Given the description of an element on the screen output the (x, y) to click on. 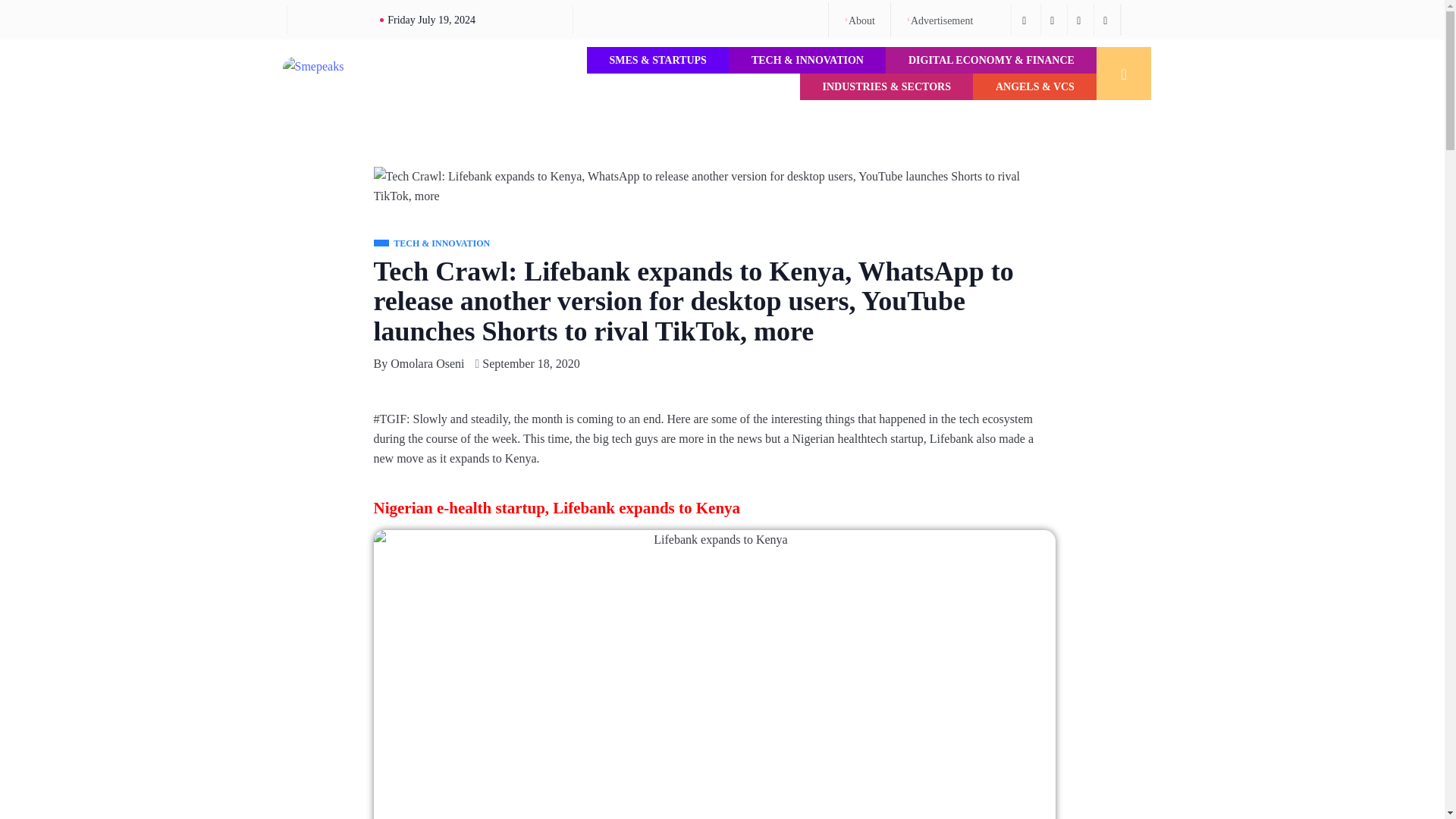
Advertisement (938, 20)
About (859, 20)
Omolara Oseni (427, 363)
